Given the description of an element on the screen output the (x, y) to click on. 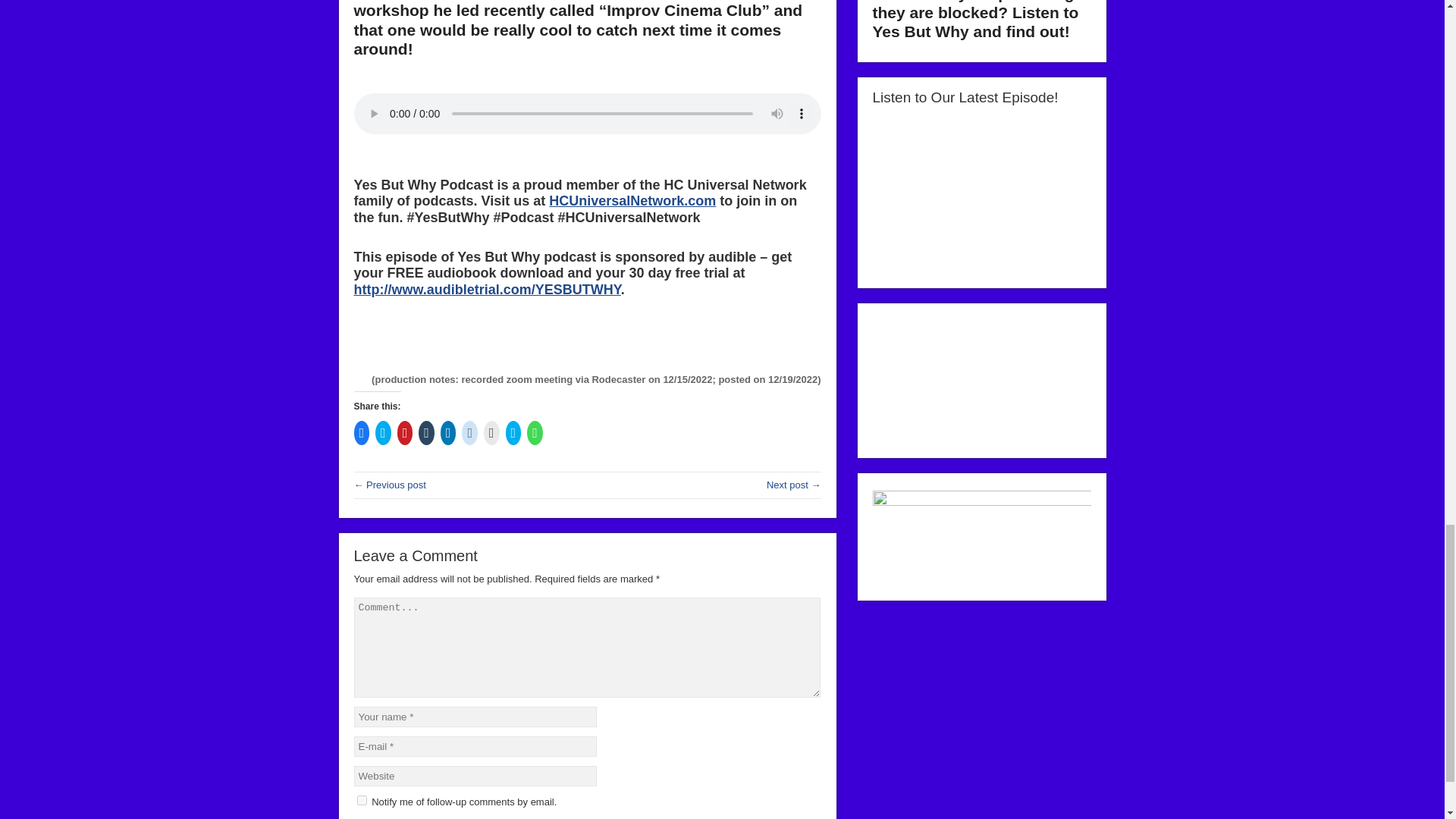
YBY ep 328: Reid Messerschmidt is Irrationally Exuberant (389, 484)
subscribe (361, 800)
HCUniversalNetwork.com (632, 200)
